Given the description of an element on the screen output the (x, y) to click on. 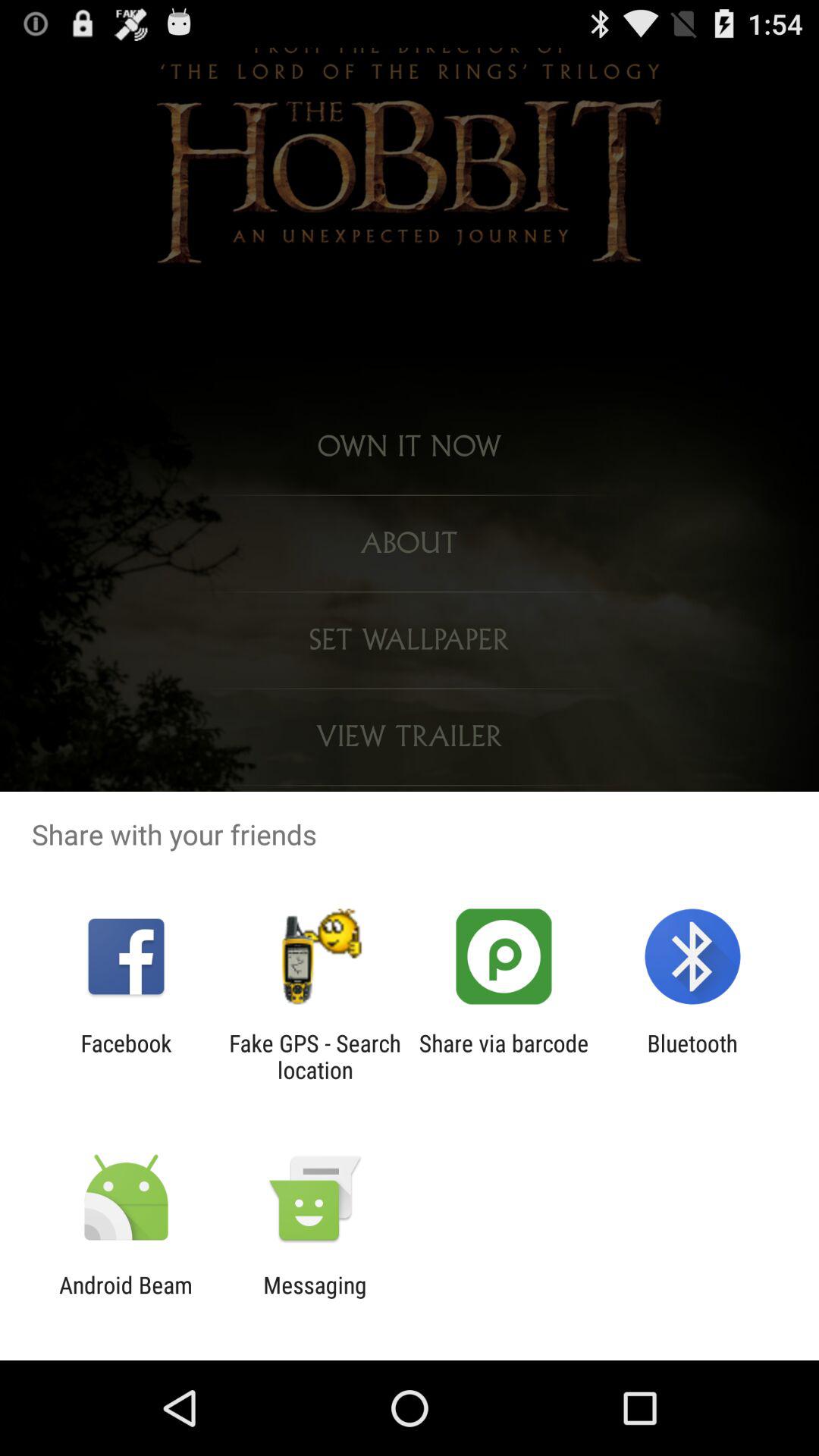
choose icon next to the fake gps search (125, 1056)
